Given the description of an element on the screen output the (x, y) to click on. 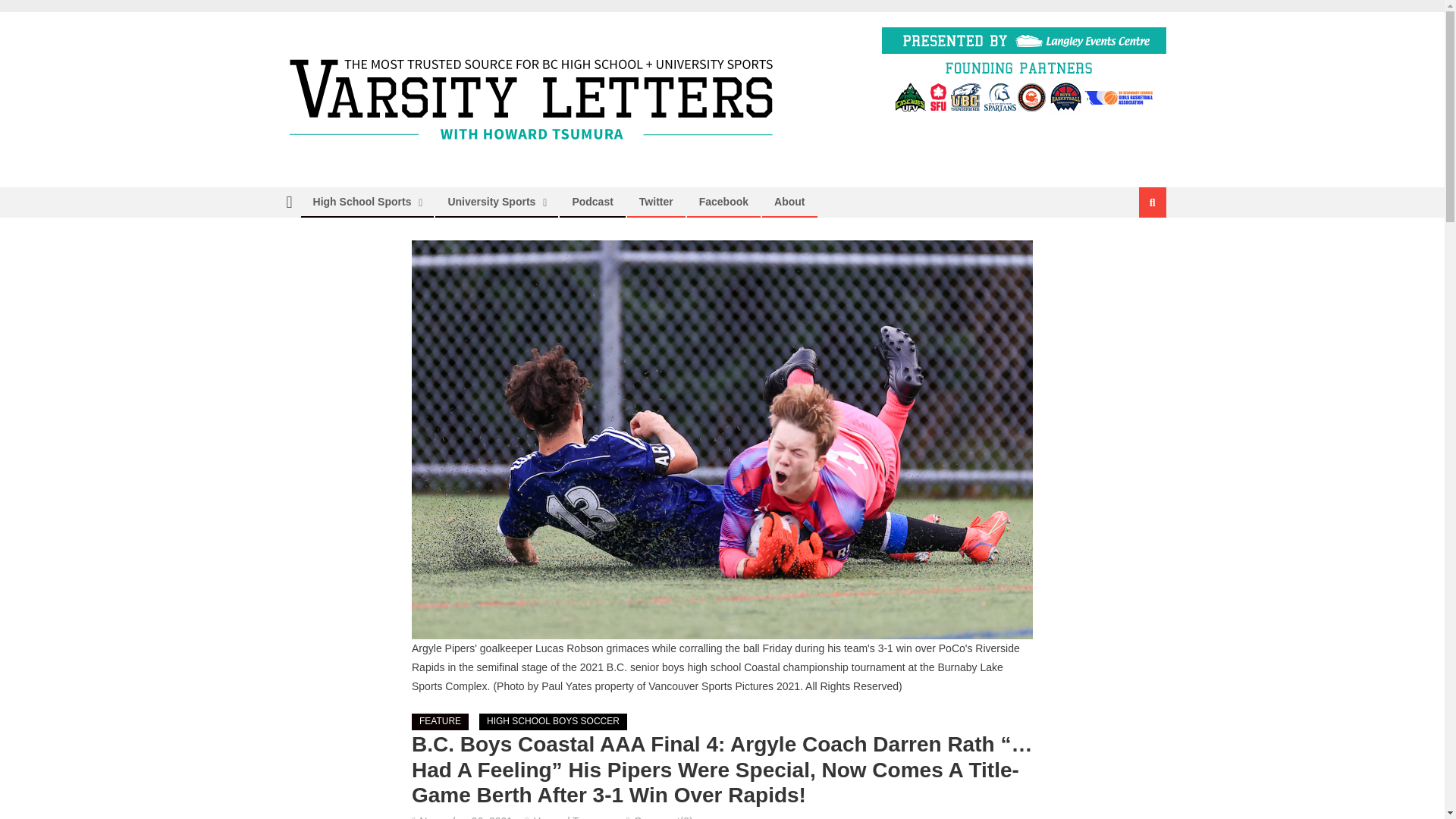
About (788, 201)
High School Sports (362, 201)
Facebook (723, 201)
Twitter (655, 201)
Podcast (592, 201)
University Sports (491, 201)
